Given the description of an element on the screen output the (x, y) to click on. 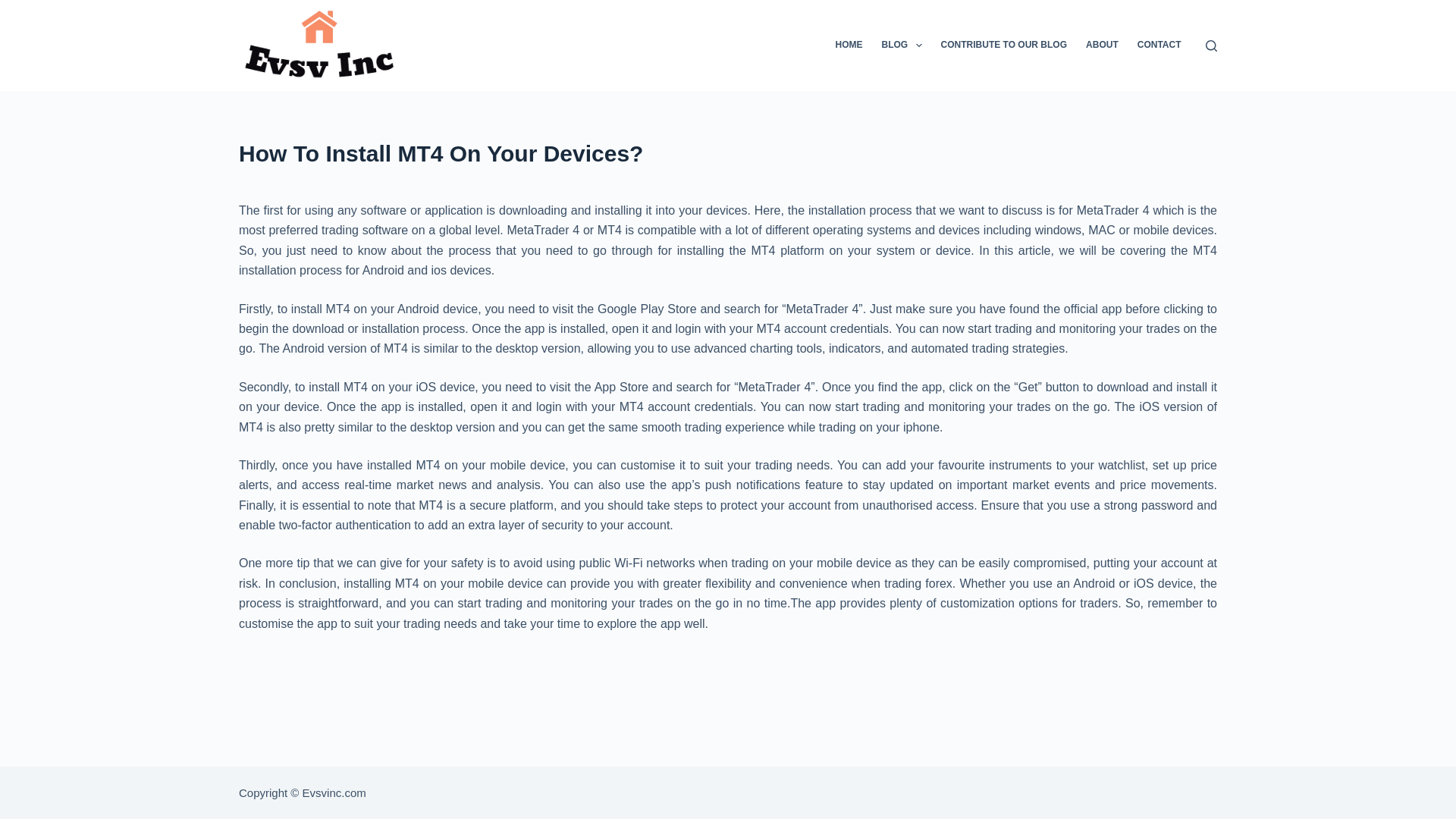
How To Install MT4 On Your Devices? (727, 153)
Skip to content (15, 7)
CONTRIBUTE TO OUR BLOG (1003, 45)
